Given the description of an element on the screen output the (x, y) to click on. 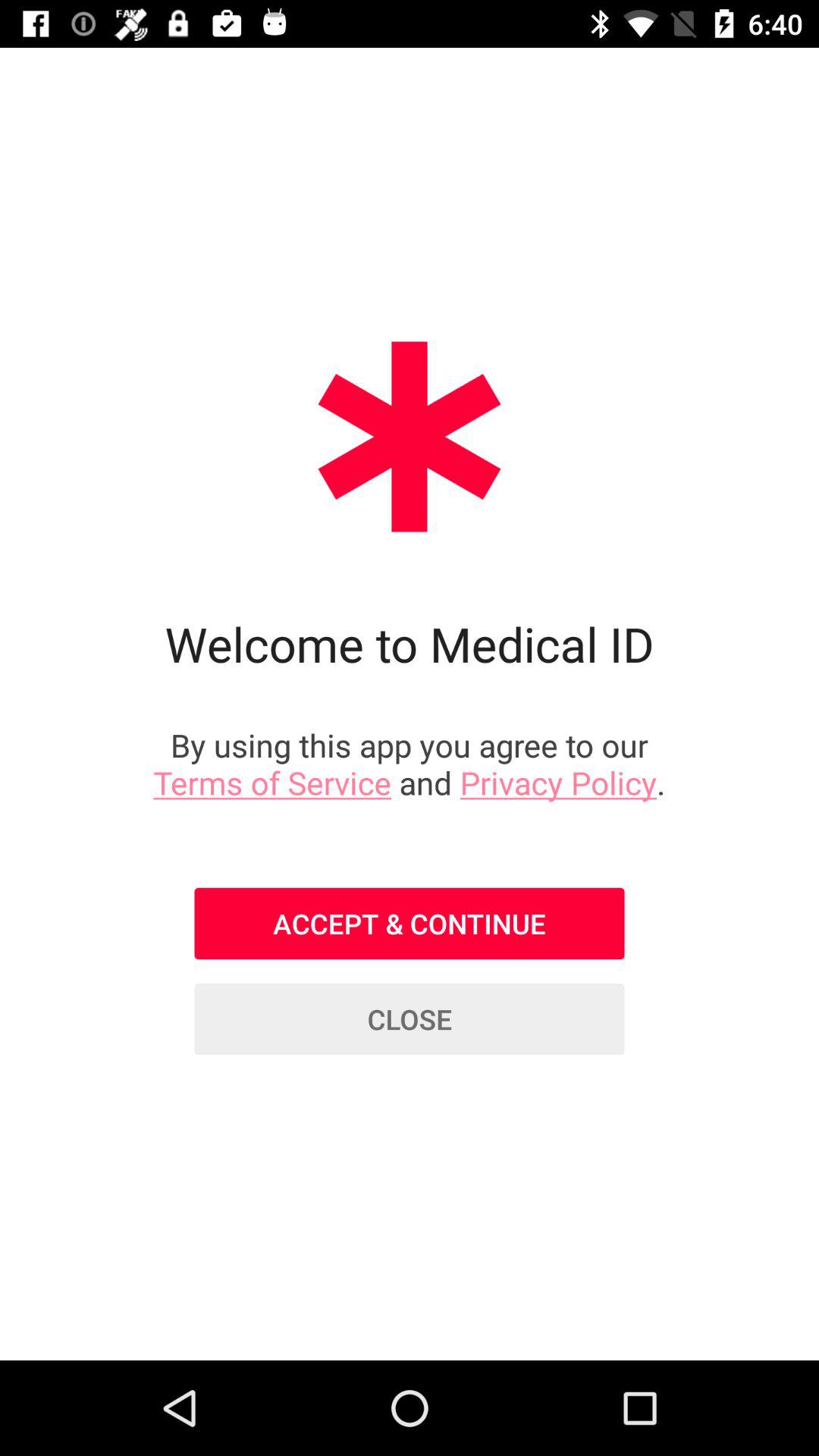
click item above the accept & continue item (409, 763)
